Given the description of an element on the screen output the (x, y) to click on. 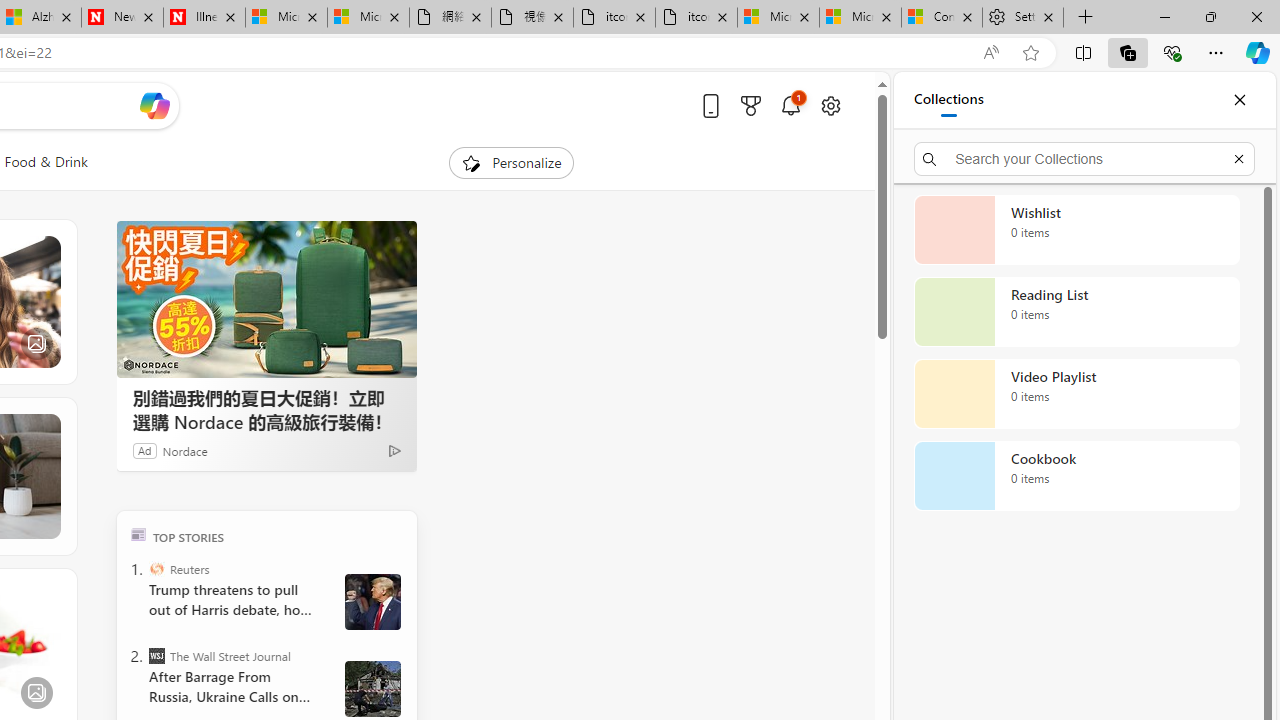
Reading List collection, 0 items (1076, 312)
TOP (138, 534)
The Wall Street Journal (156, 655)
Wishlist collection, 0 items (1076, 229)
Consumer Health Data Privacy Policy (941, 17)
Food & Drink (45, 162)
Exit search (1238, 158)
